Given the description of an element on the screen output the (x, y) to click on. 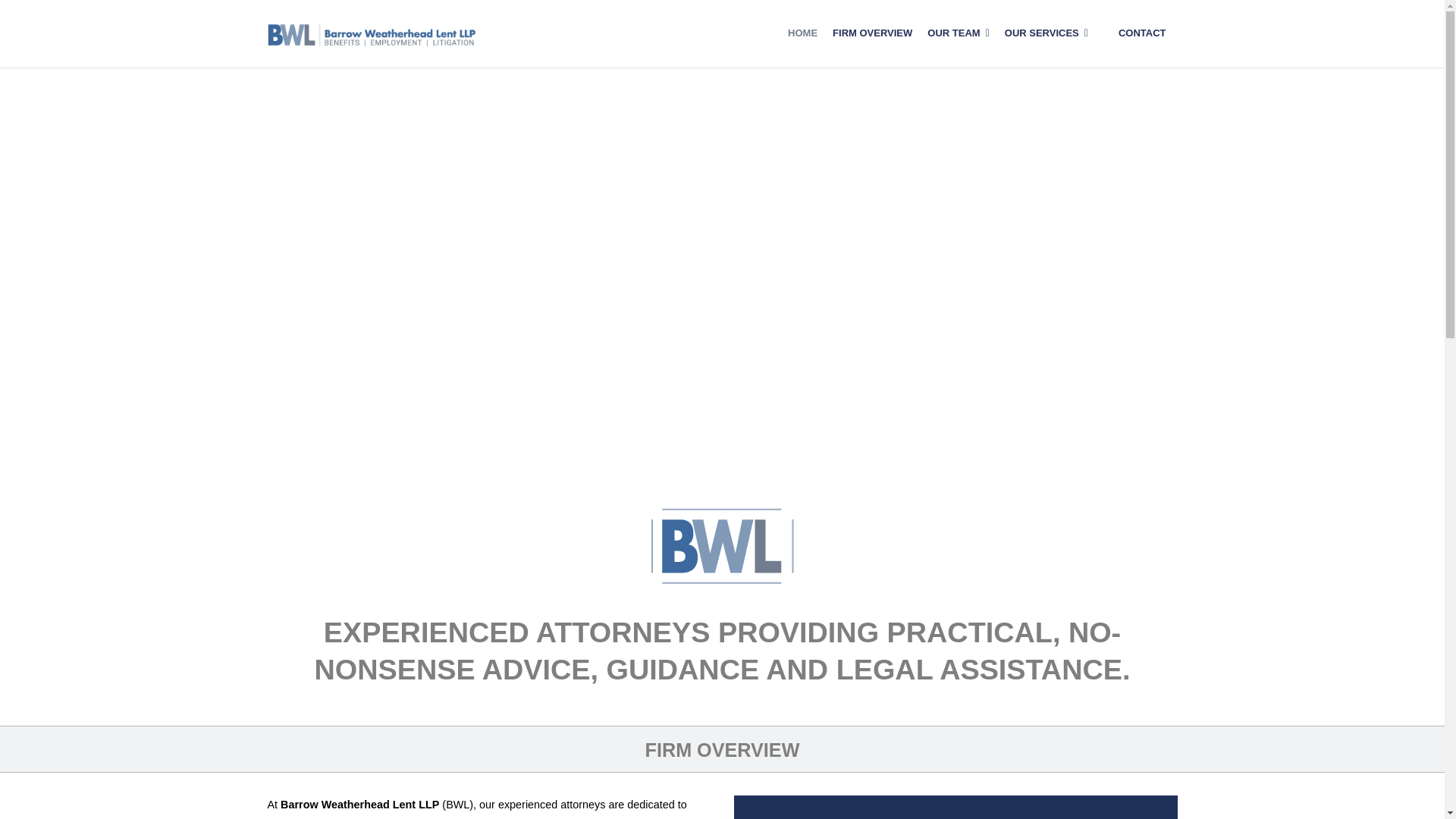
FIRM OVERVIEW (872, 33)
OUR SERVICES (1046, 33)
OUR TEAM (957, 33)
